Given the description of an element on the screen output the (x, y) to click on. 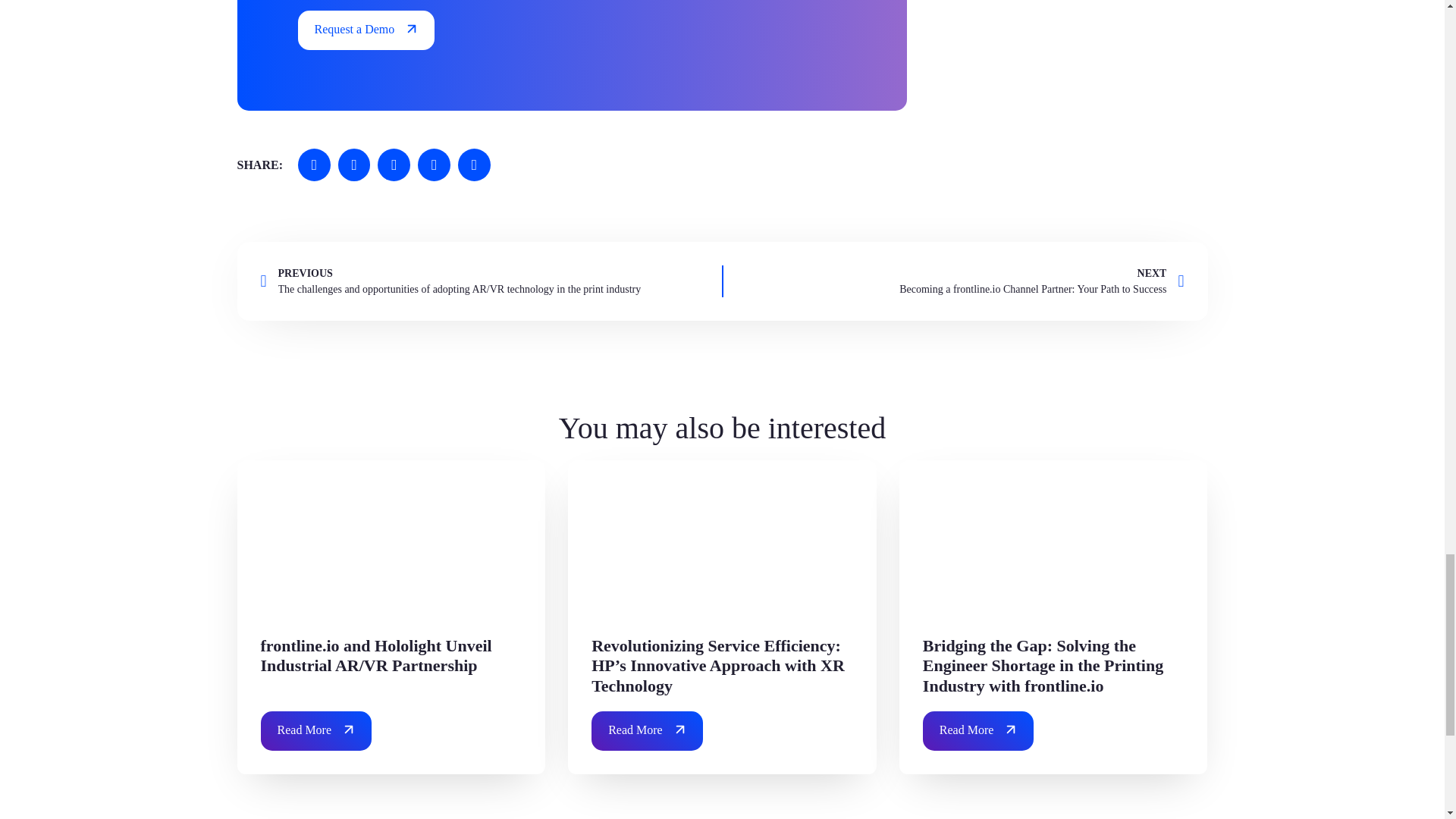
Read More (316, 731)
Read More (978, 731)
Request a Demo (365, 29)
Read More (647, 731)
